Given the description of an element on the screen output the (x, y) to click on. 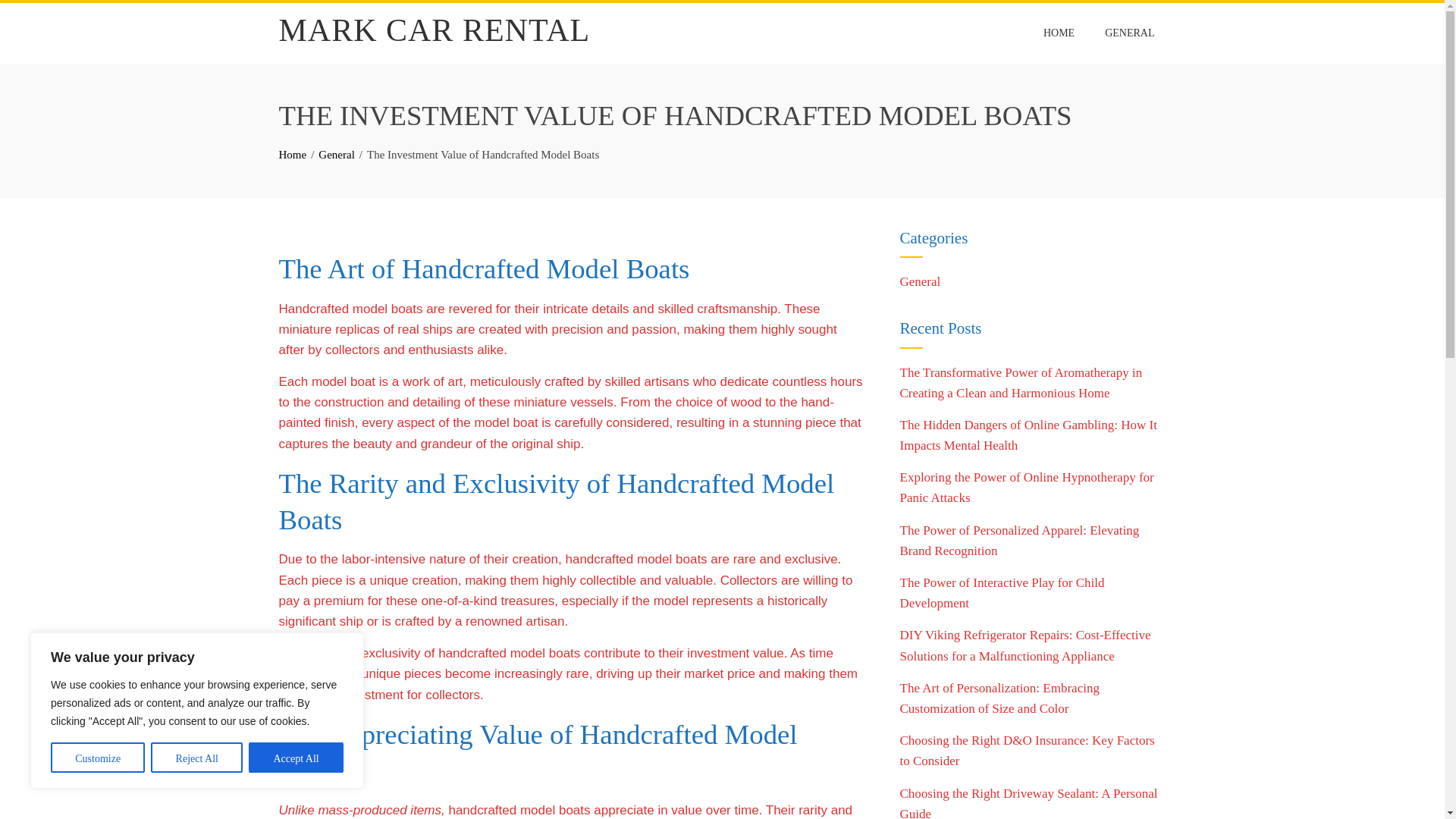
Customize (97, 757)
Accept All (295, 757)
The Power of Interactive Play for Child Development (1001, 592)
Choosing the Right Driveway Sealant: A Personal Guide (1028, 802)
Exploring the Power of Online Hypnotherapy for Panic Attacks (1026, 487)
MARK CAR RENTAL (435, 30)
General (335, 154)
General (919, 281)
Reject All (197, 757)
Home (293, 154)
